Given the description of an element on the screen output the (x, y) to click on. 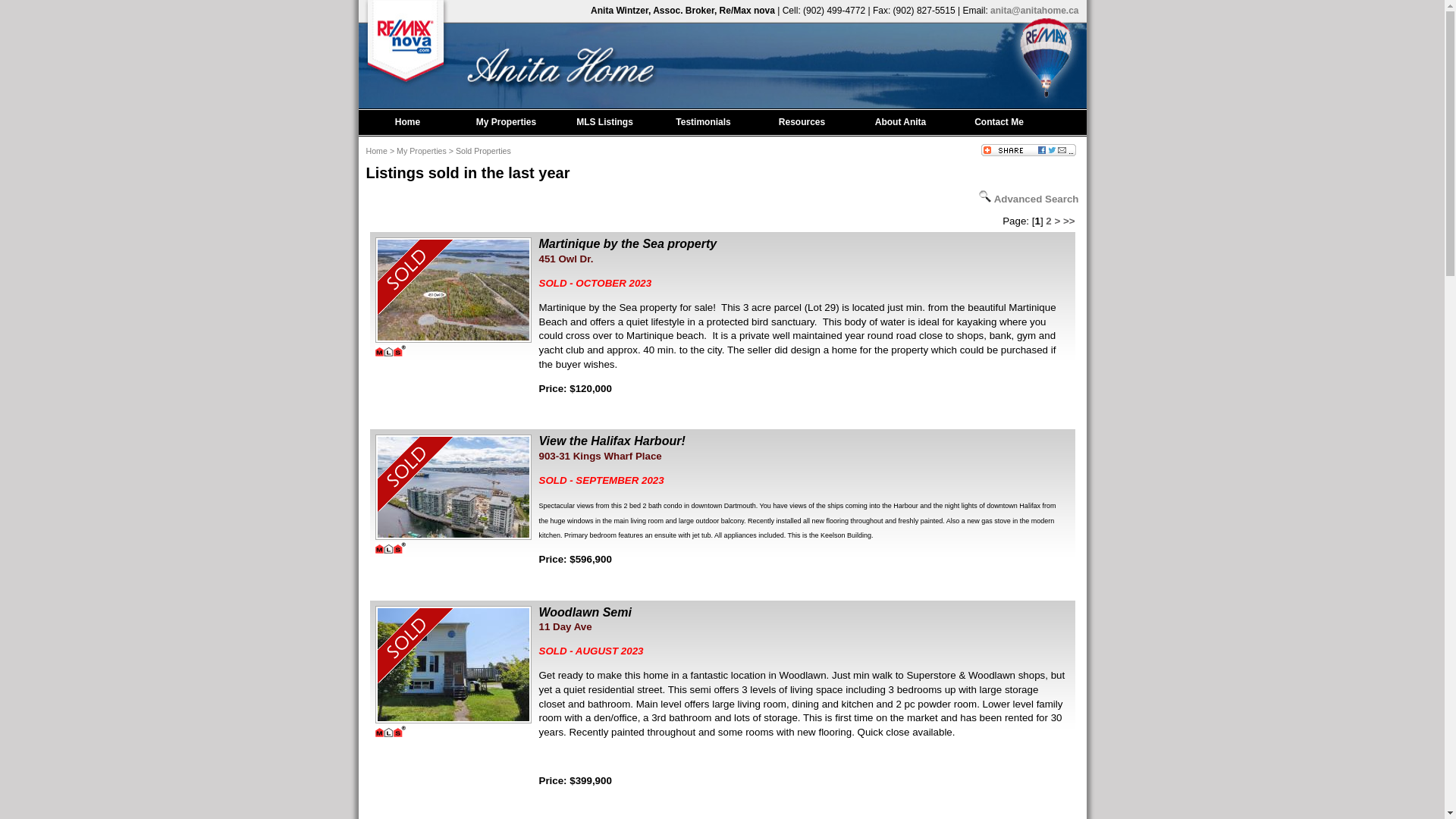
451 Owl Dr. Element type: text (565, 258)
Resources Element type: text (801, 122)
My Properties Element type: text (421, 150)
Anita Wintzer | 11 Day Ave Element type: hover (452, 664)
2 Element type: text (1048, 220)
Anita Wintzer | 451 Owl Dr. Element type: hover (452, 289)
About Anita Element type: text (899, 122)
MLS listing #202318497 Element type: hover (389, 547)
Contact Me Element type: text (998, 122)
MLS listing #202316512 Element type: hover (389, 731)
Testimonials Element type: text (702, 122)
>> Element type: text (1069, 220)
903-31 Kings Wharf Place Element type: text (599, 455)
MLS listing #202304984 Element type: hover (389, 350)
11 Day Ave Element type: text (564, 626)
My Properties Element type: text (505, 122)
MLS Listings Element type: text (604, 122)
Home Element type: text (375, 150)
Home Element type: text (406, 122)
Advanced Search Element type: text (1028, 198)
anita@anitahome.ca Element type: text (1034, 10)
> Element type: text (1057, 220)
Anita Wintzer | 903-31 Kings Wharf Place Element type: hover (452, 486)
Search for listings Element type: hover (985, 196)
